Given the description of an element on the screen output the (x, y) to click on. 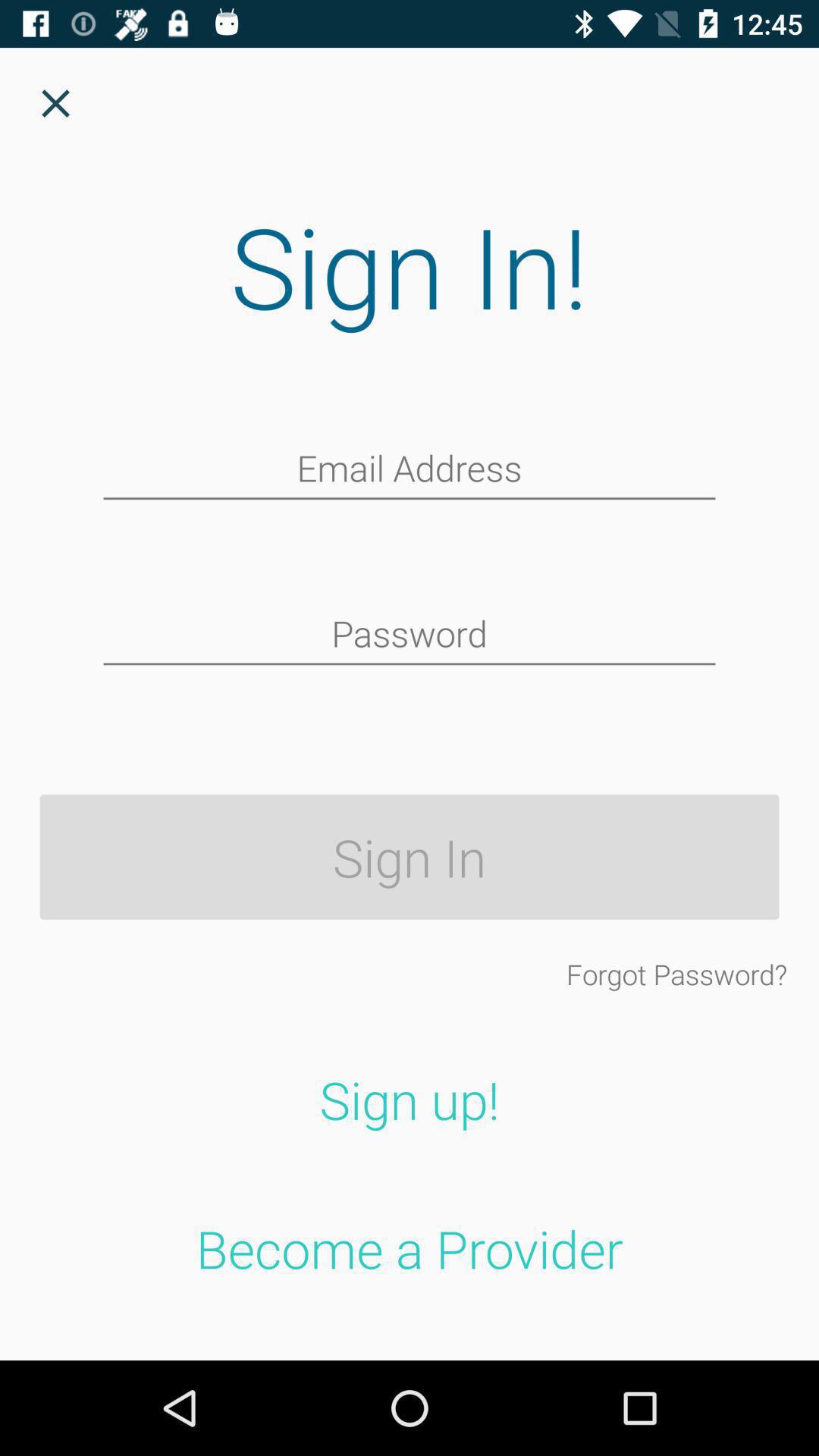
open become a provider item (409, 1247)
